Given the description of an element on the screen output the (x, y) to click on. 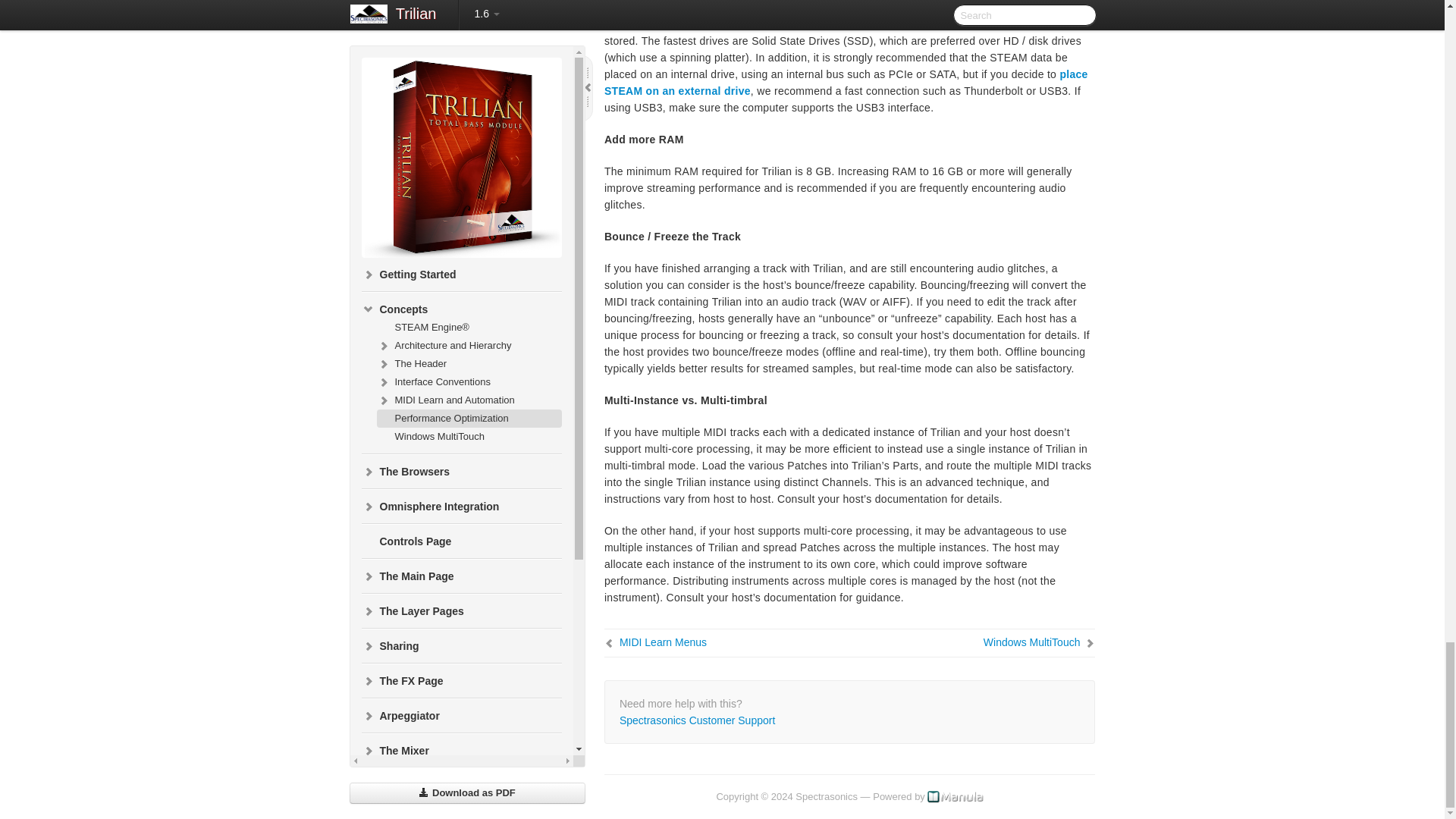
Manula.com (955, 796)
